Given the description of an element on the screen output the (x, y) to click on. 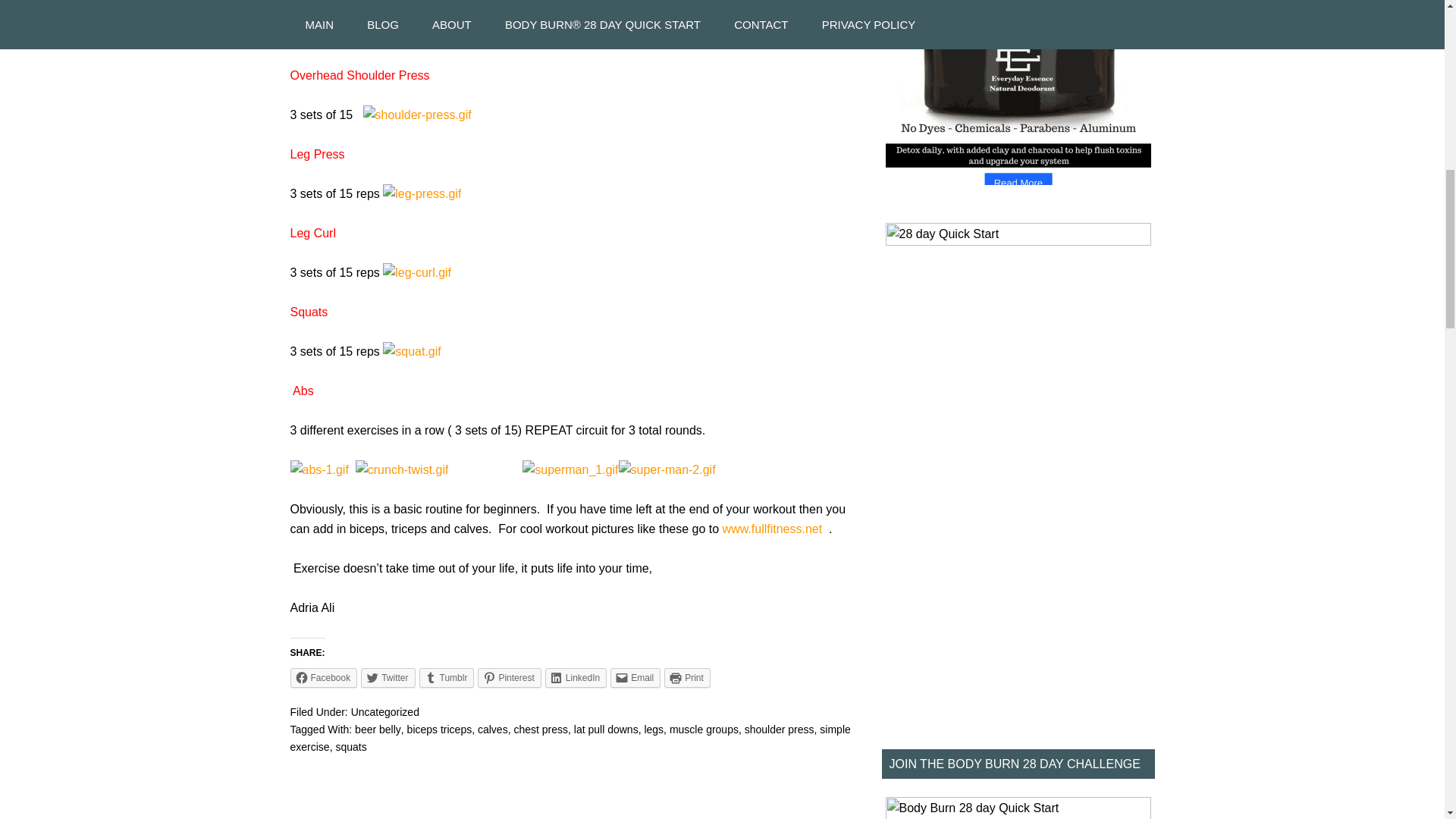
Pinterest (508, 677)
abs-1.gif (318, 469)
Twitter (387, 677)
squat.gif (411, 350)
crunch-twist.gif (401, 469)
www.fullfitness.net (772, 528)
Tumblr (446, 677)
LinkedIn (575, 677)
Uncategorized (384, 711)
leg-curl.gif (416, 272)
